Given the description of an element on the screen output the (x, y) to click on. 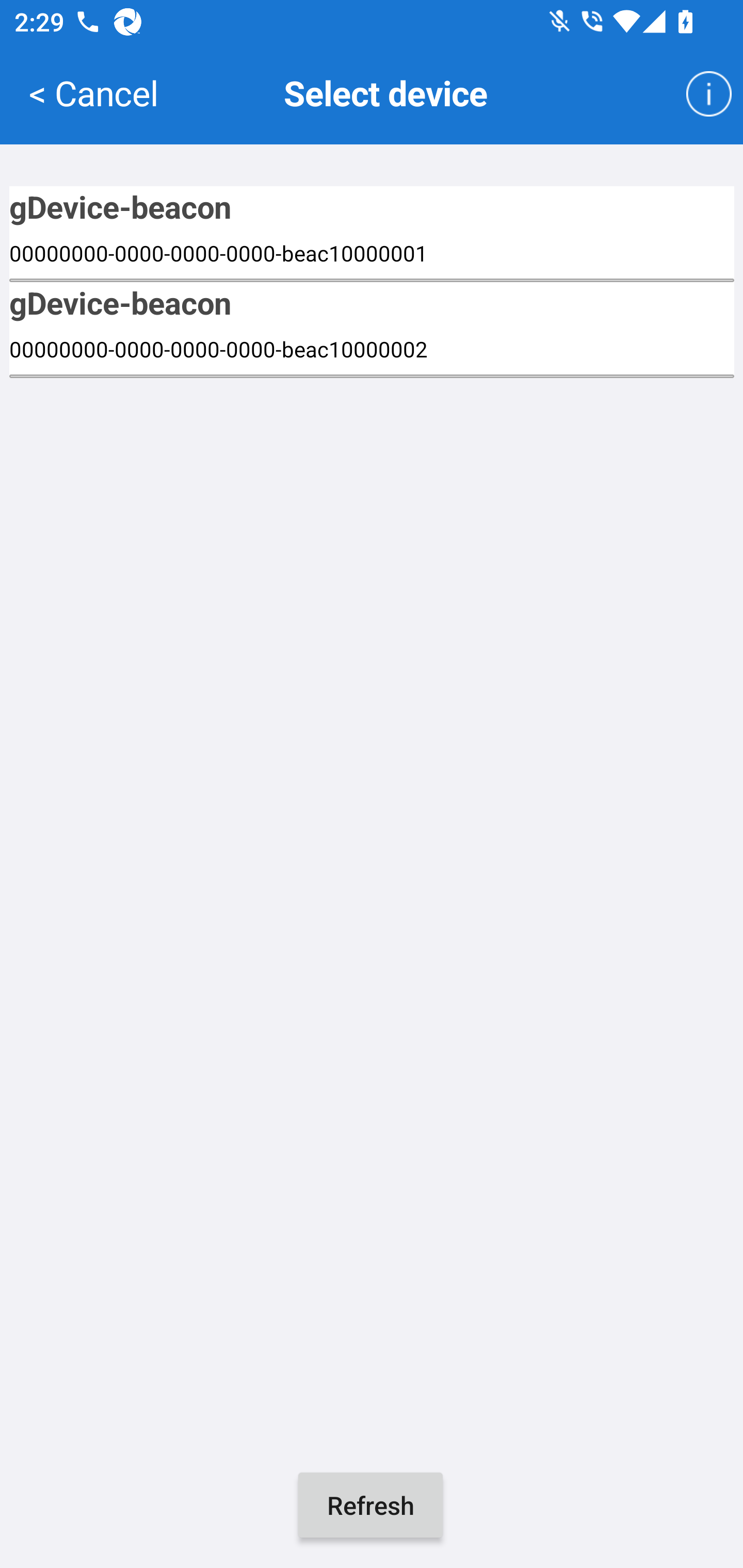
< Cancel (93, 92)
Refresh (370, 1505)
